Given the description of an element on the screen output the (x, y) to click on. 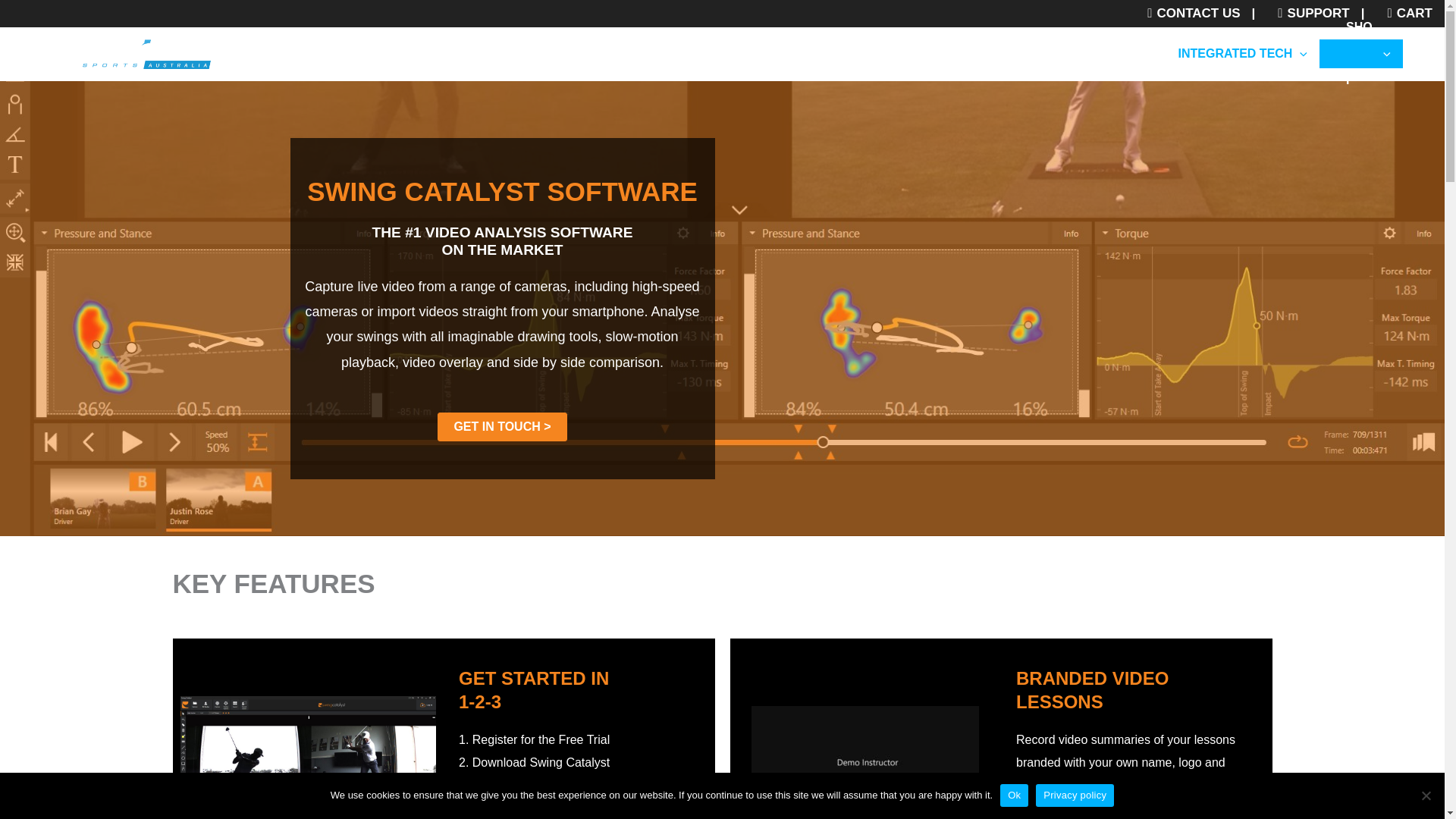
SUPPORT (1307, 13)
No (1425, 795)
LAUNCH MONITORS (823, 53)
INTEGRATED TECH (1242, 53)
SOFTWARE (1112, 53)
GOLF SIMULATORS (980, 53)
CONTACT US (1187, 13)
CART (1403, 13)
